Given the description of an element on the screen output the (x, y) to click on. 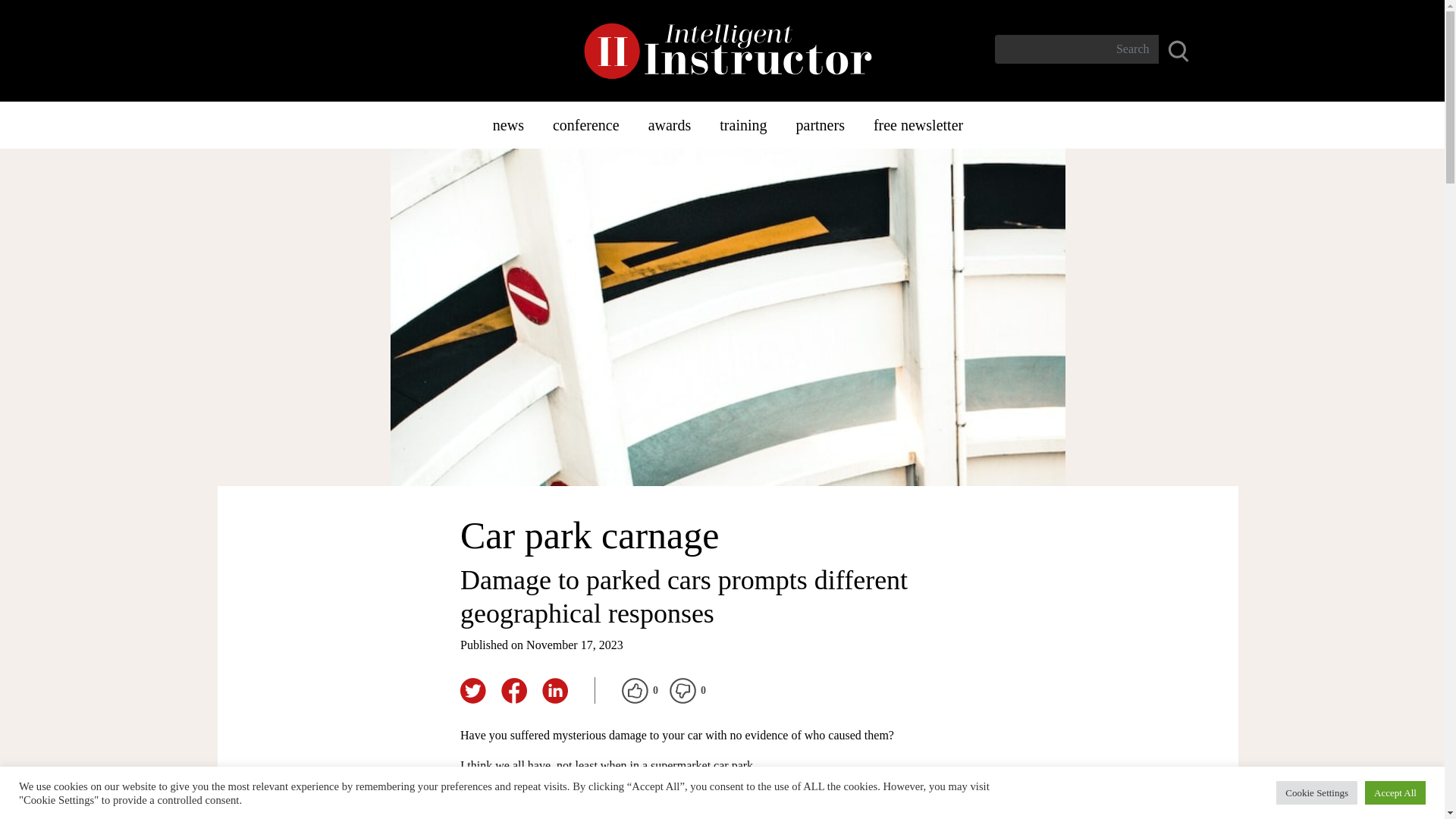
awards (669, 124)
Twitter (472, 690)
free newsletter (917, 124)
news (508, 124)
training (742, 124)
partners (819, 124)
Facebook (513, 690)
LinkedIn (554, 690)
conference (585, 124)
